Given the description of an element on the screen output the (x, y) to click on. 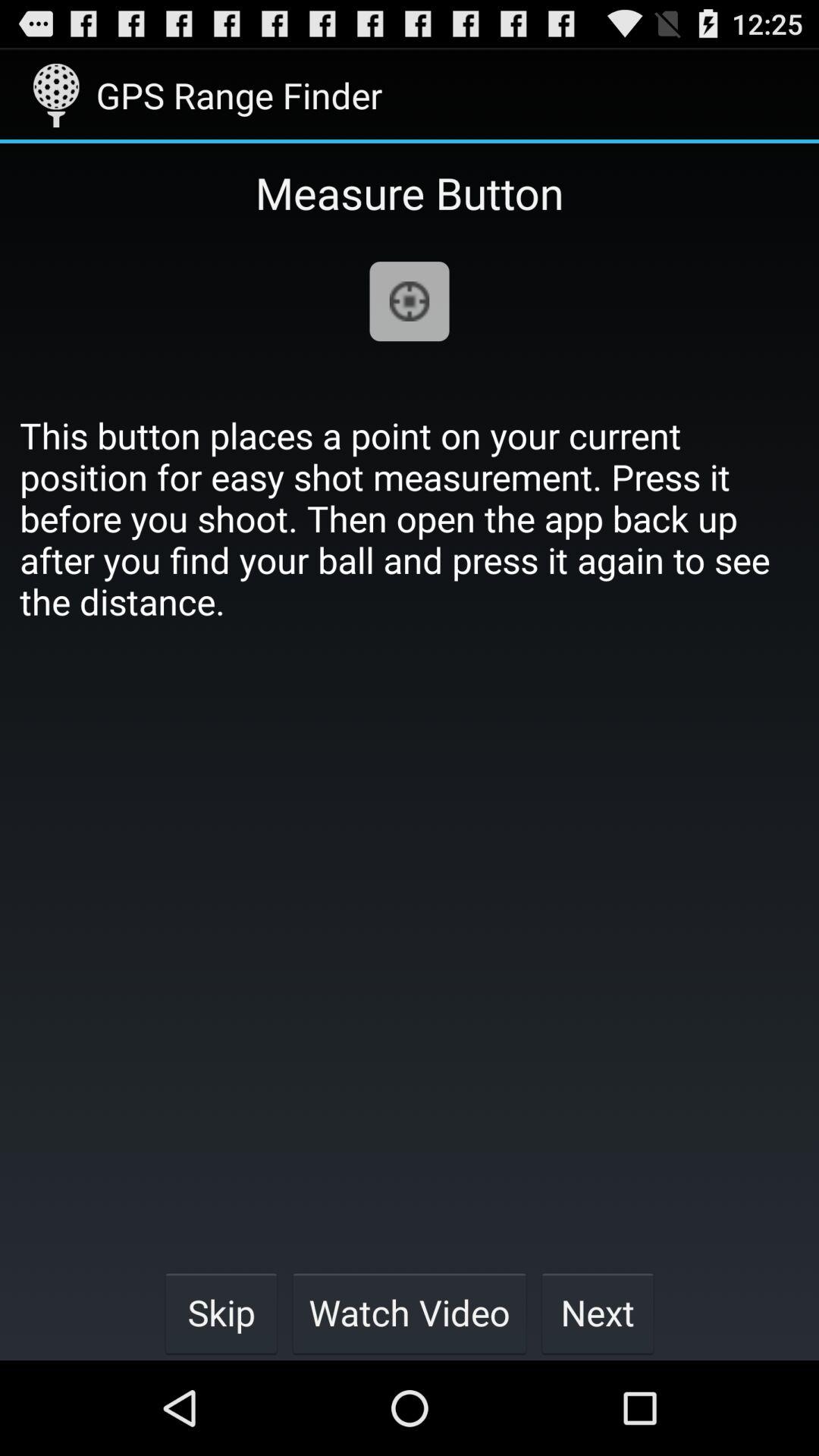
open app below the measure button item (409, 301)
